Given the description of an element on the screen output the (x, y) to click on. 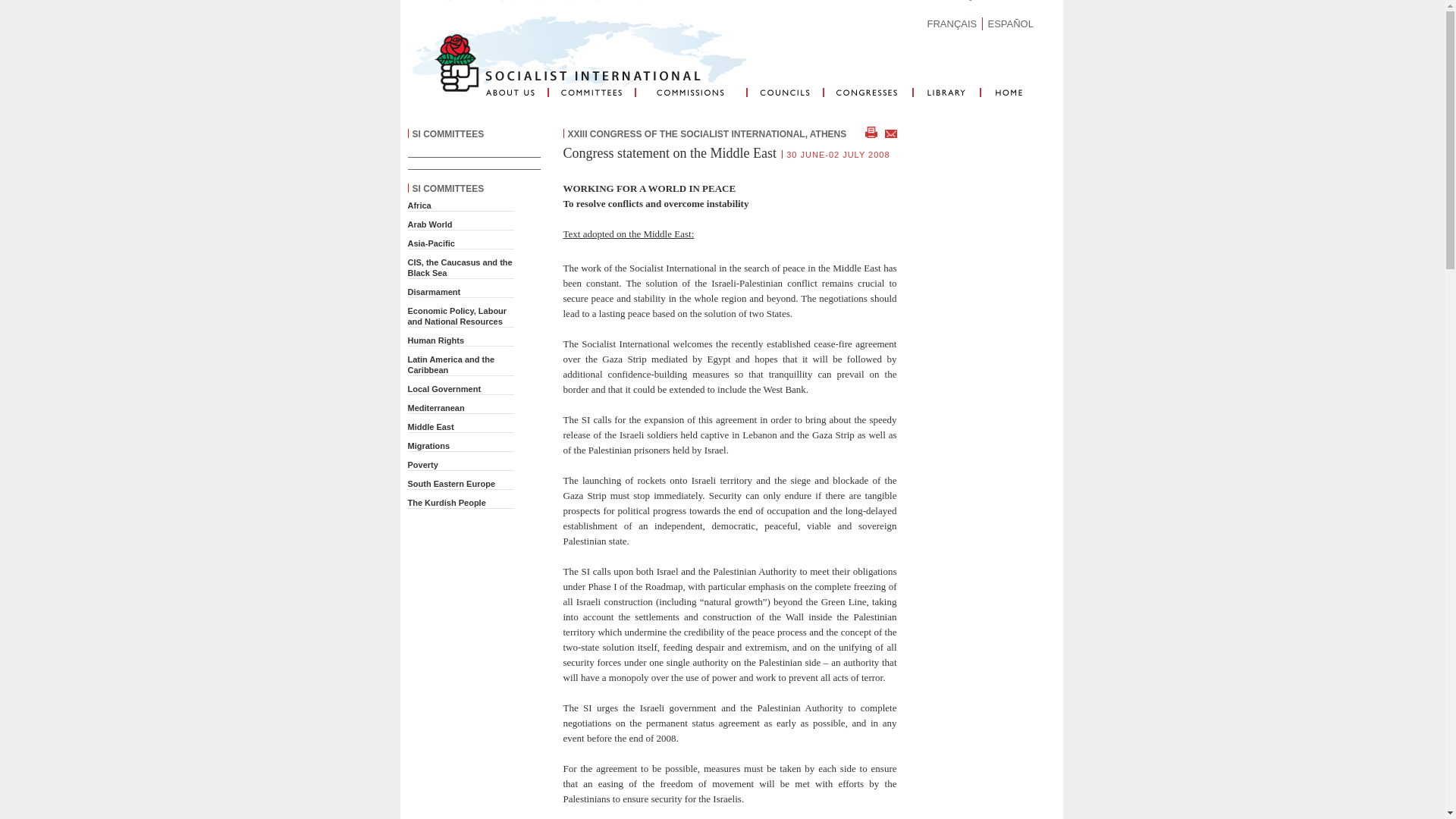
Poverty (422, 464)
South Eastern Europe (451, 483)
CIS, the Caucasus and the Black Sea (459, 267)
Disarmament (434, 291)
The Kurdish People (446, 501)
Africa (418, 204)
Latin America and the Caribbean (451, 364)
Migrations (428, 445)
Congress statement on the Middle East (669, 152)
Arab World (429, 224)
